Given the description of an element on the screen output the (x, y) to click on. 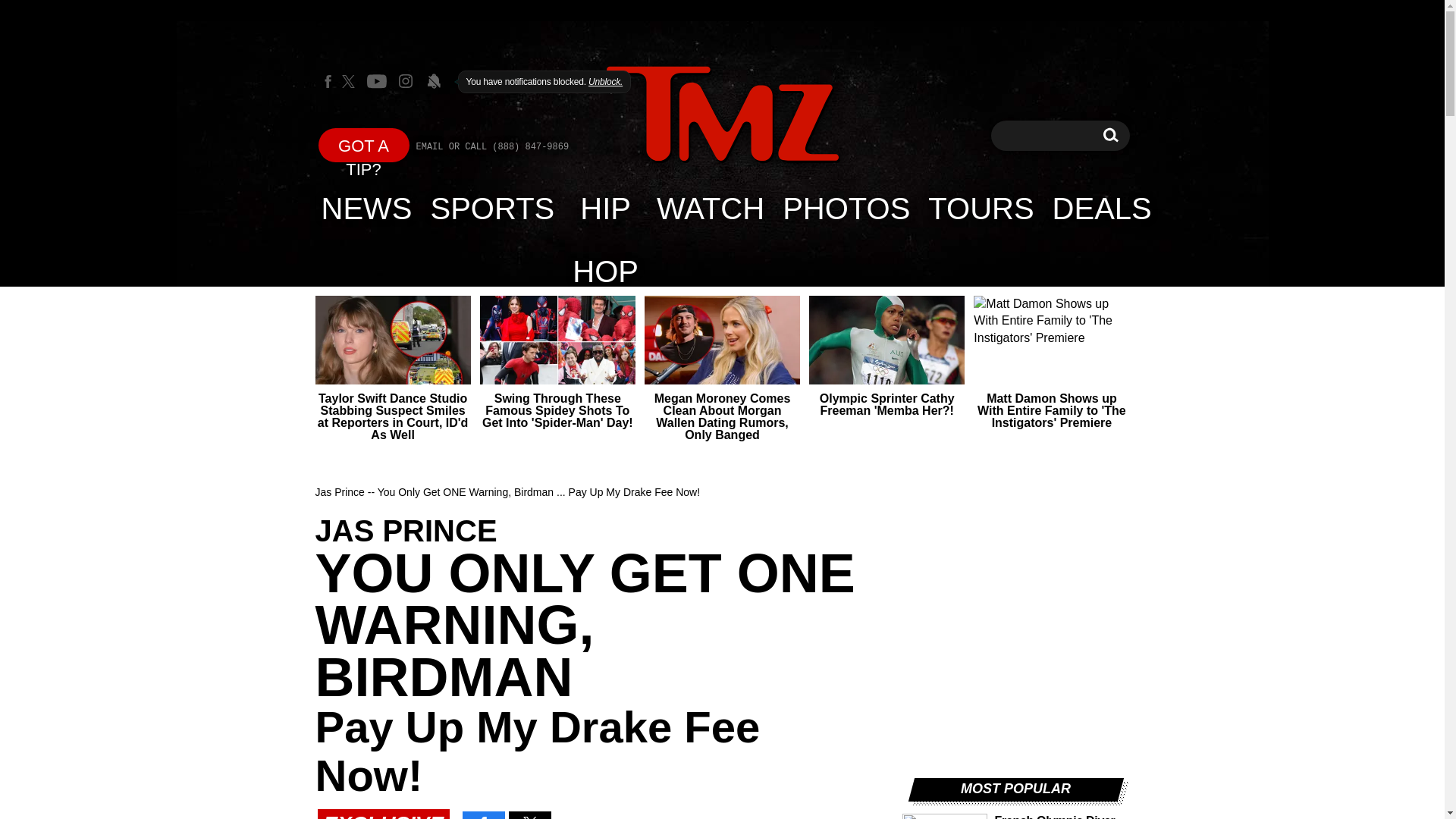
GOT A TIP? (363, 144)
Search (1110, 134)
HIP HOP (605, 207)
TMZ (722, 115)
DEALS (1101, 207)
SPORTS (493, 207)
WATCH (710, 207)
PHOTOS (845, 207)
TOURS (980, 207)
TMZ (722, 113)
NEWS (1110, 135)
